Given the description of an element on the screen output the (x, y) to click on. 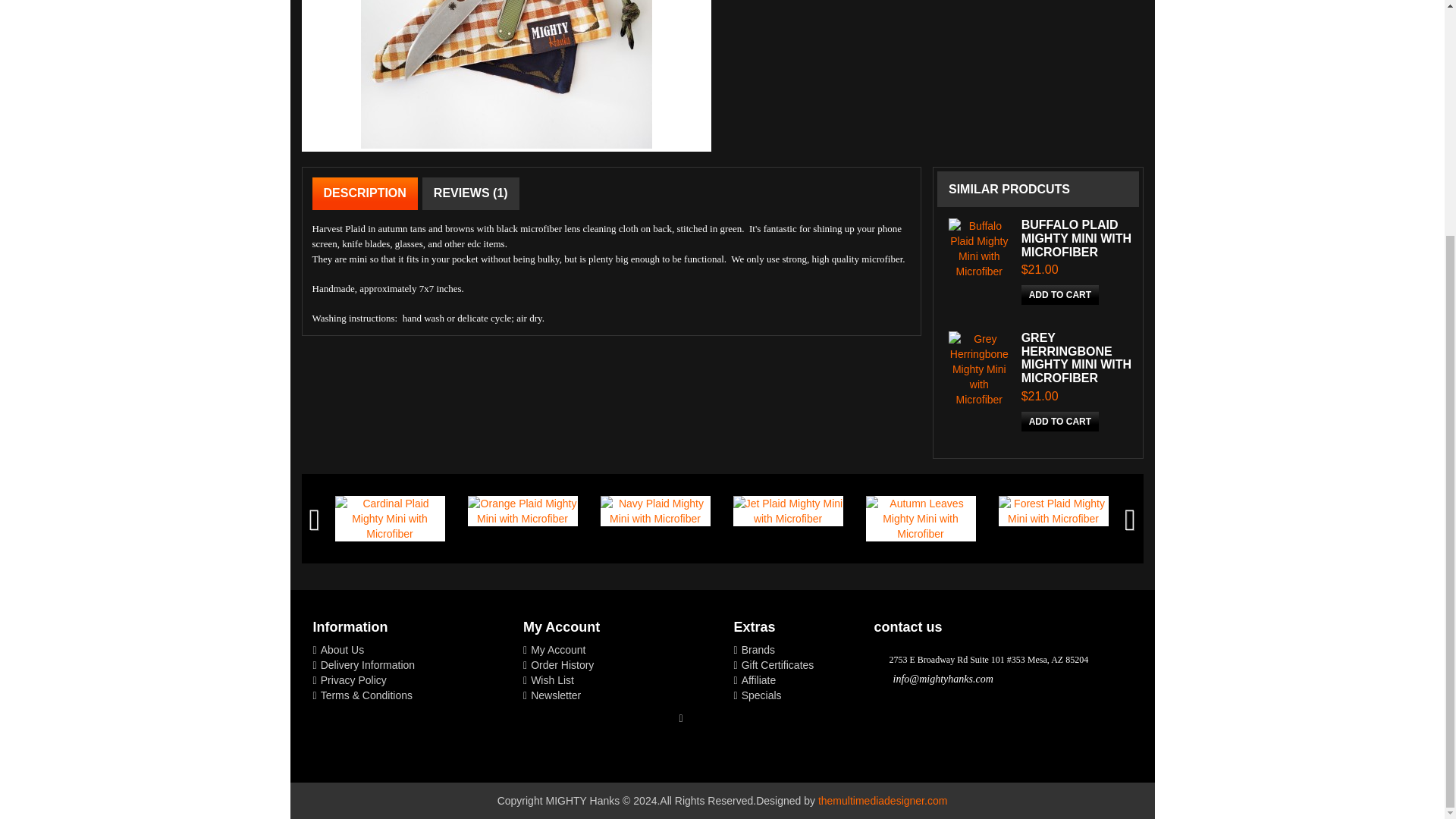
Navy Plaid Mighty Mini with Microfiber (654, 511)
Orange Plaid Mighty Mini with Microfiber (521, 511)
Harvest Plaid Mighty Mini with Microfiber (506, 75)
Harvest Plaid Mighty Mini with Microfiber (506, 74)
Cardinal Plaid Mighty Mini with Microfiber (389, 518)
Buffalo Plaid Mighty Mini with Microfiber (979, 248)
